Given the description of an element on the screen output the (x, y) to click on. 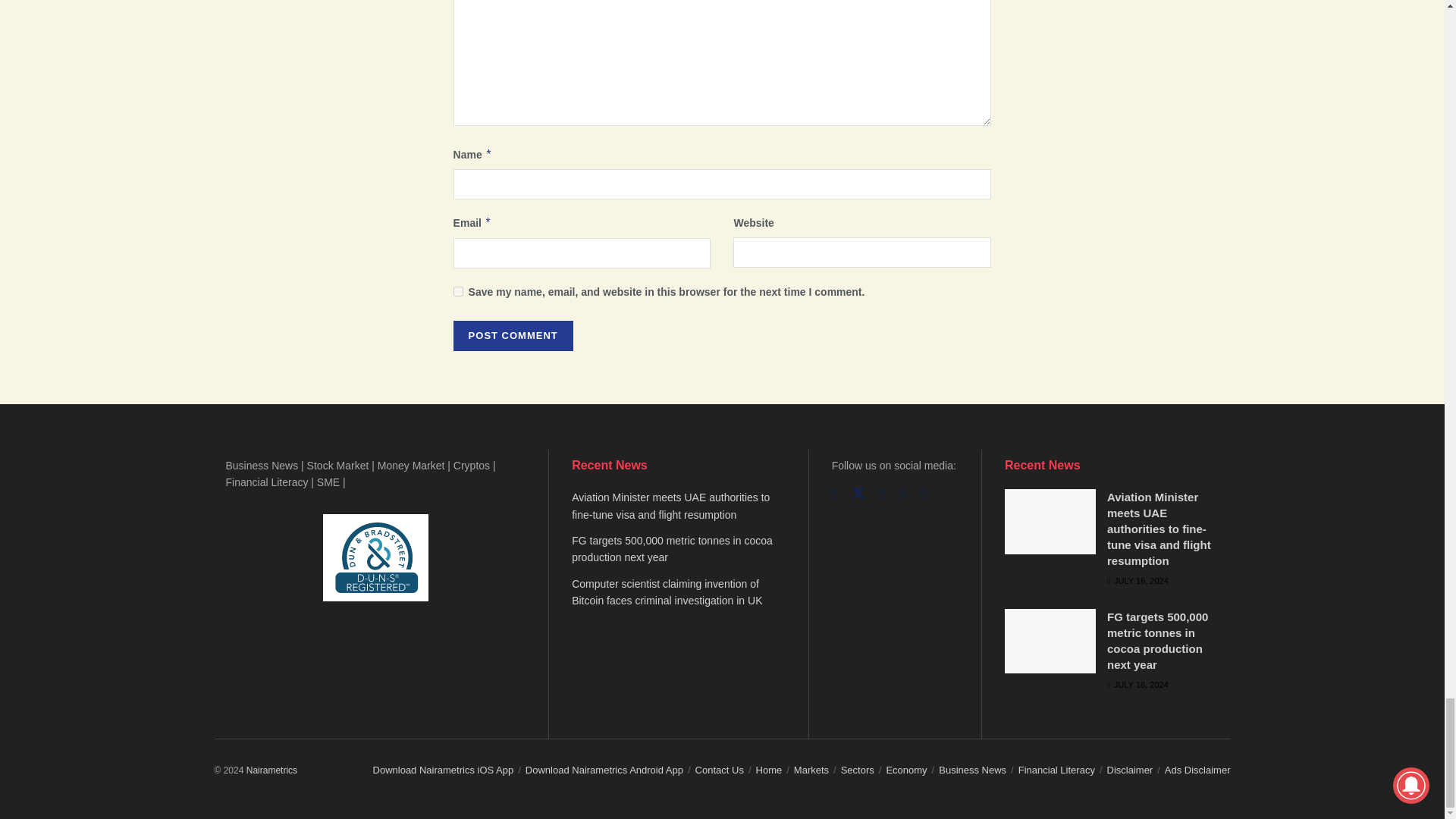
Nairametrics (271, 769)
yes (457, 291)
Post Comment (512, 336)
